Given the description of an element on the screen output the (x, y) to click on. 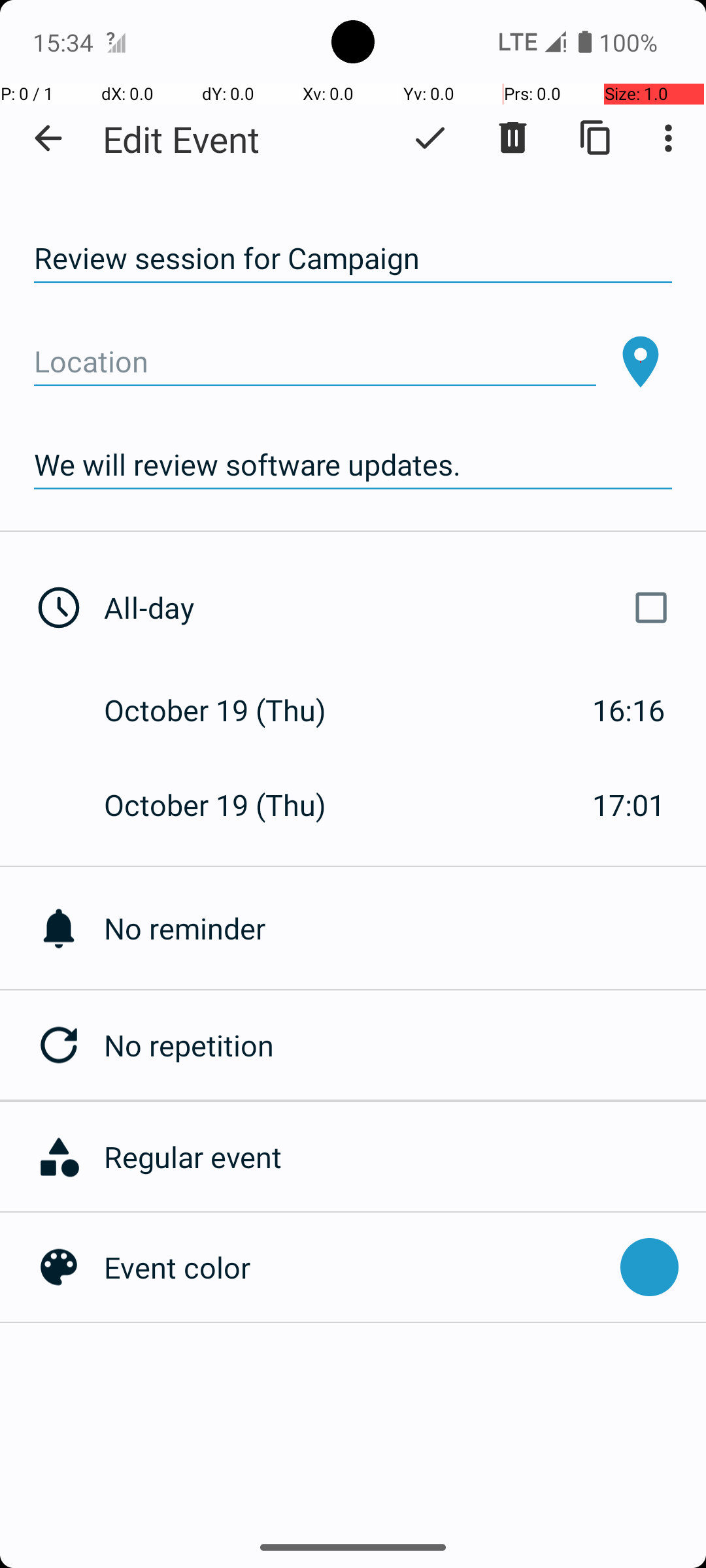
We will review software updates. Element type: android.widget.EditText (352, 465)
October 19 (Thu) Element type: android.widget.TextView (228, 709)
16:16 Element type: android.widget.TextView (628, 709)
17:01 Element type: android.widget.TextView (628, 804)
